Given the description of an element on the screen output the (x, y) to click on. 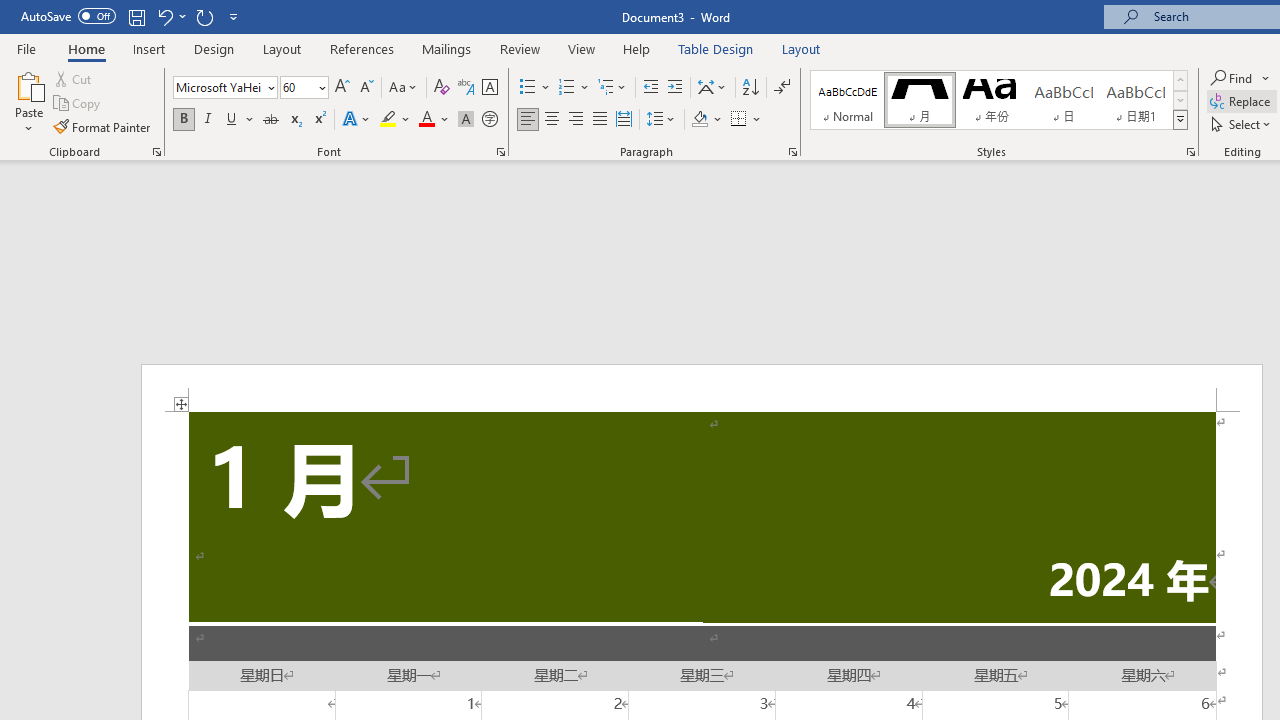
Table Design (715, 48)
Font (218, 87)
Character Shading (465, 119)
Clear Formatting (442, 87)
Font Color RGB(255, 0, 0) (426, 119)
Text Effects and Typography (357, 119)
Numbering (573, 87)
Line and Paragraph Spacing (661, 119)
Font... (500, 151)
Show/Hide Editing Marks (781, 87)
Paste (28, 84)
Find (1233, 78)
Format Painter (103, 126)
